Given the description of an element on the screen output the (x, y) to click on. 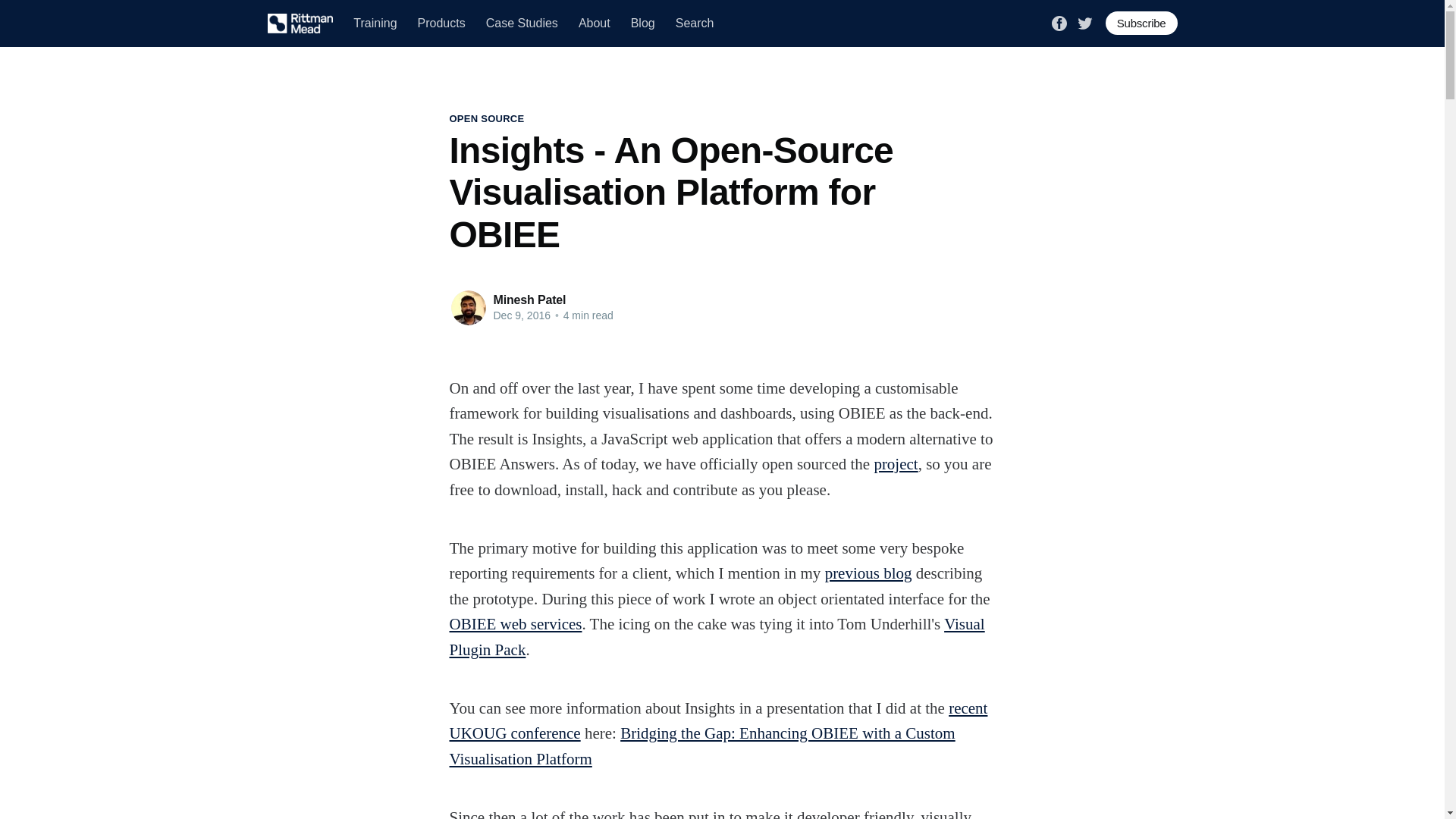
project (895, 464)
Twitter (1085, 21)
Visual Plugin Pack (716, 637)
Minesh Patel (529, 299)
About (594, 22)
recent UKOUG conference (717, 720)
Training (374, 22)
Search (694, 22)
Case Studies (521, 22)
Subscribe (1141, 23)
